Given the description of an element on the screen output the (x, y) to click on. 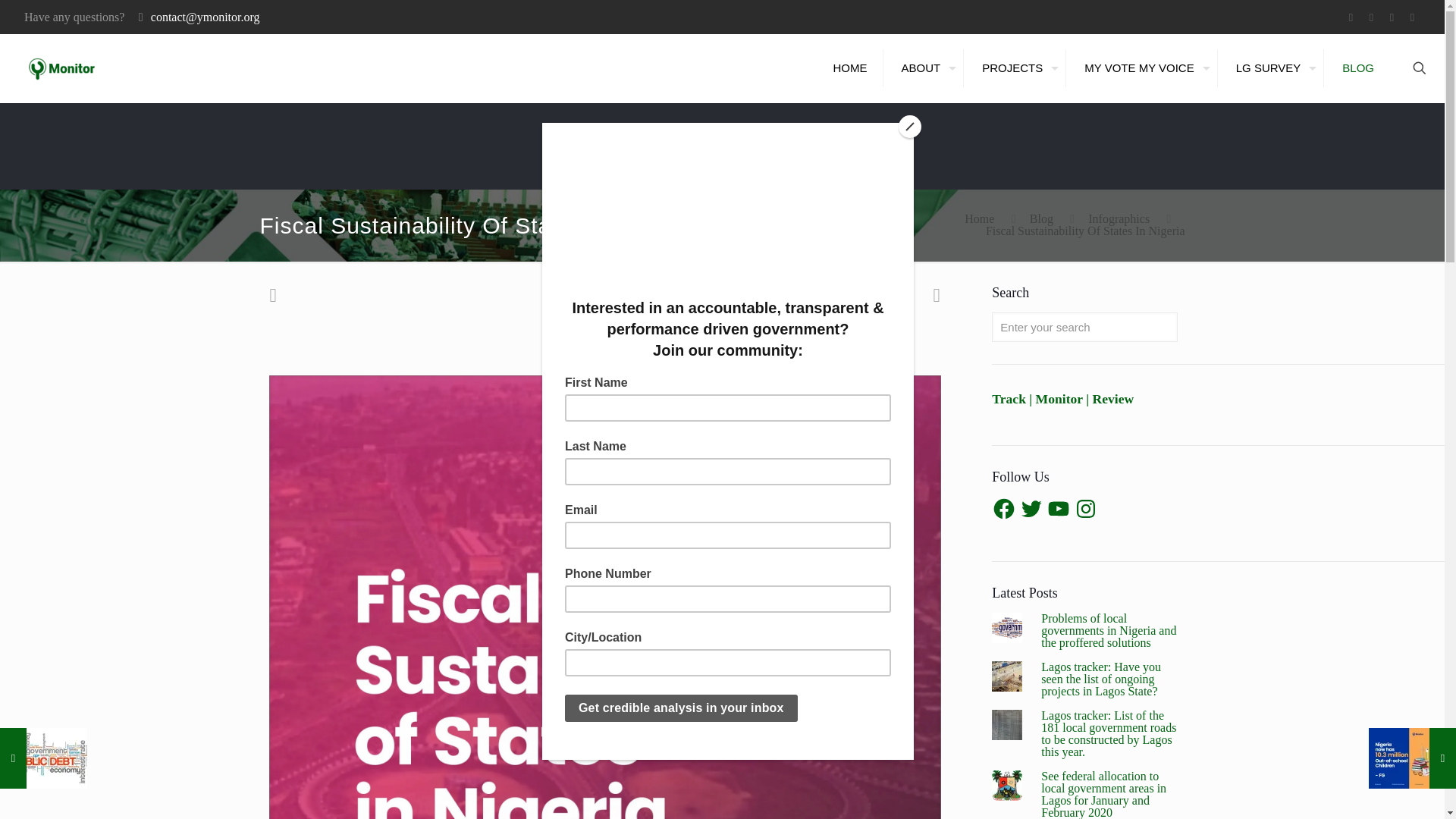
MY VOTE MY VOICE (1142, 67)
YouTube (1391, 17)
Instagram (1413, 17)
Twitter (1370, 17)
PROJECTS (1015, 67)
HOME (850, 67)
ABOUT (924, 67)
LG SURVEY (1272, 67)
Facebook (1350, 17)
